Given the description of an element on the screen output the (x, y) to click on. 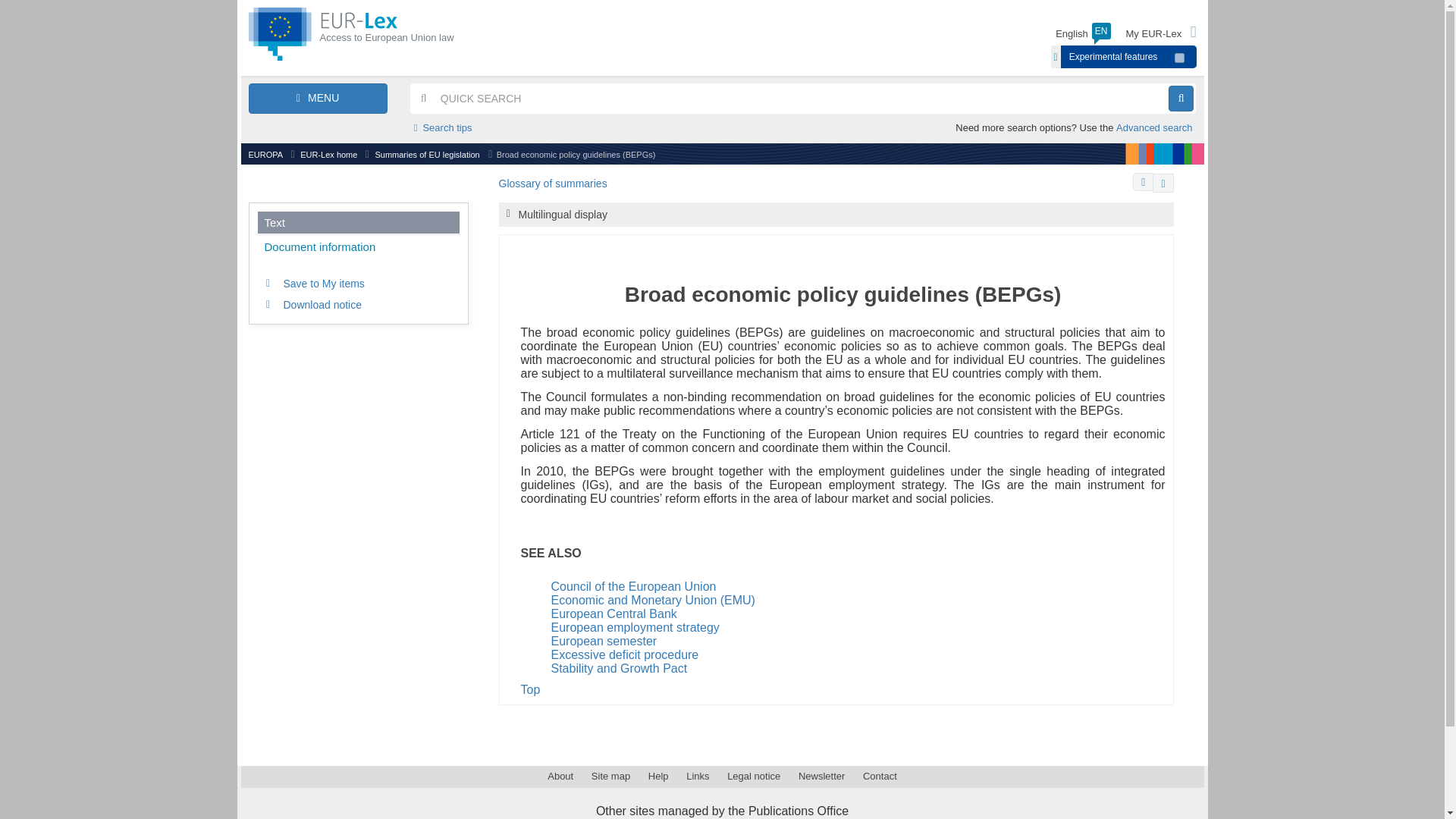
Select site language (1082, 33)
My EUR-Lex (1160, 33)
Back to EUR-Lex homepage (322, 33)
Back to EUR-Lex homepage (388, 33)
true (1179, 58)
MENU (317, 98)
Access to European Union law (388, 33)
Experimental features (1113, 56)
